Given the description of an element on the screen output the (x, y) to click on. 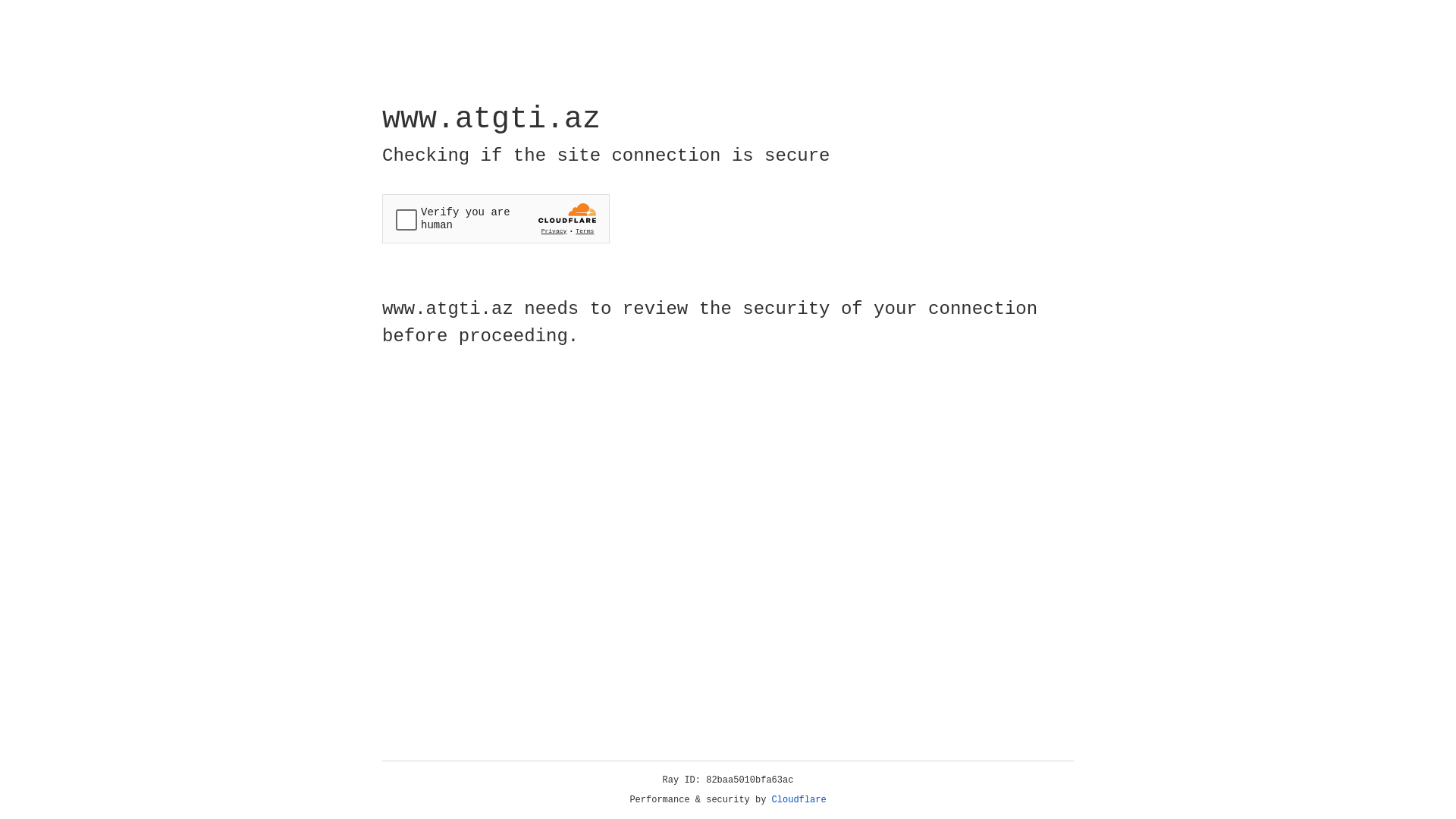
Cloudflare Element type: text (798, 799)
Widget containing a Cloudflare security challenge Element type: hover (495, 218)
